Given the description of an element on the screen output the (x, y) to click on. 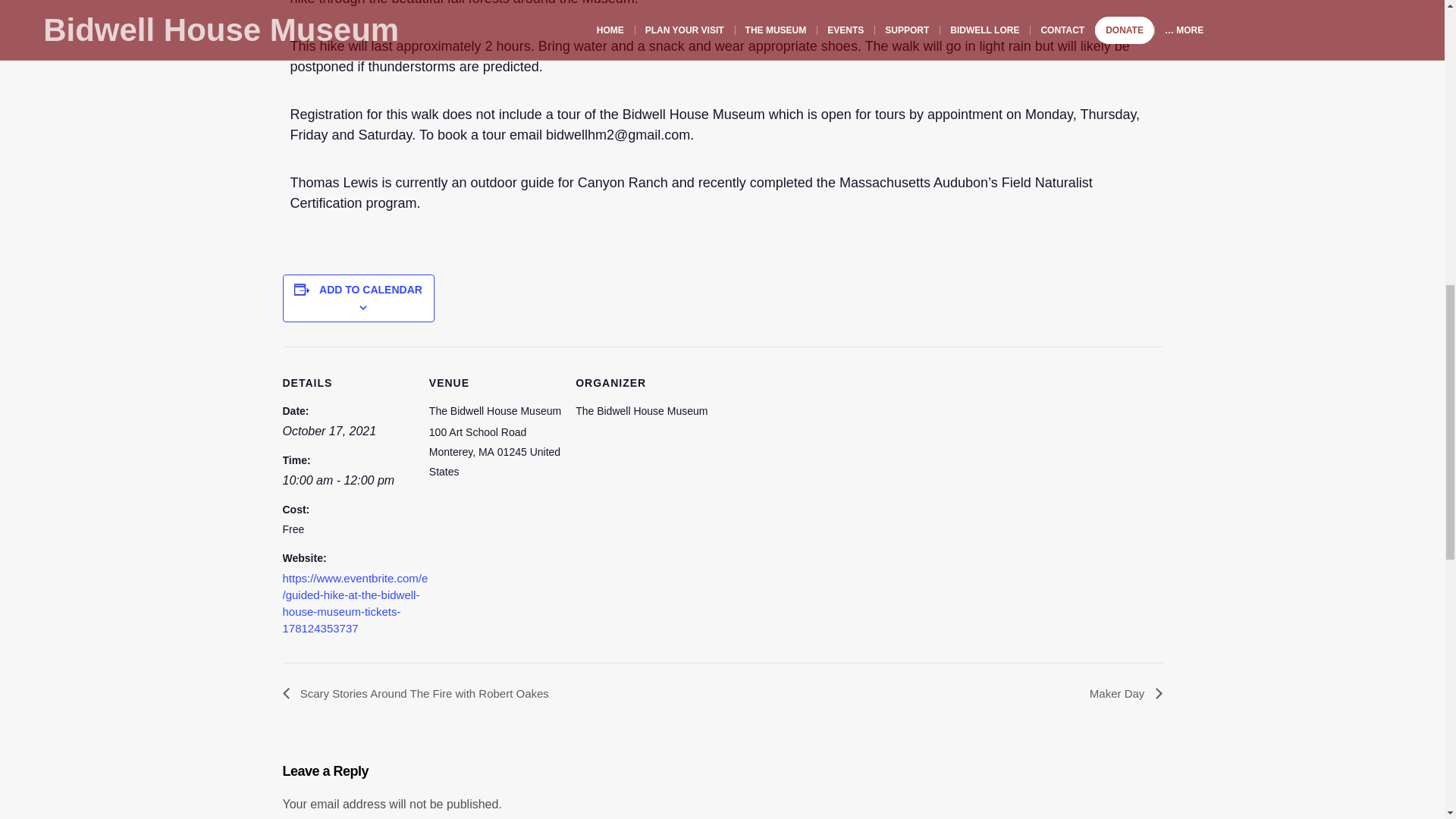
2021-10-17 (328, 431)
2021-10-17 (355, 480)
ADD TO CALENDAR (370, 289)
